Given the description of an element on the screen output the (x, y) to click on. 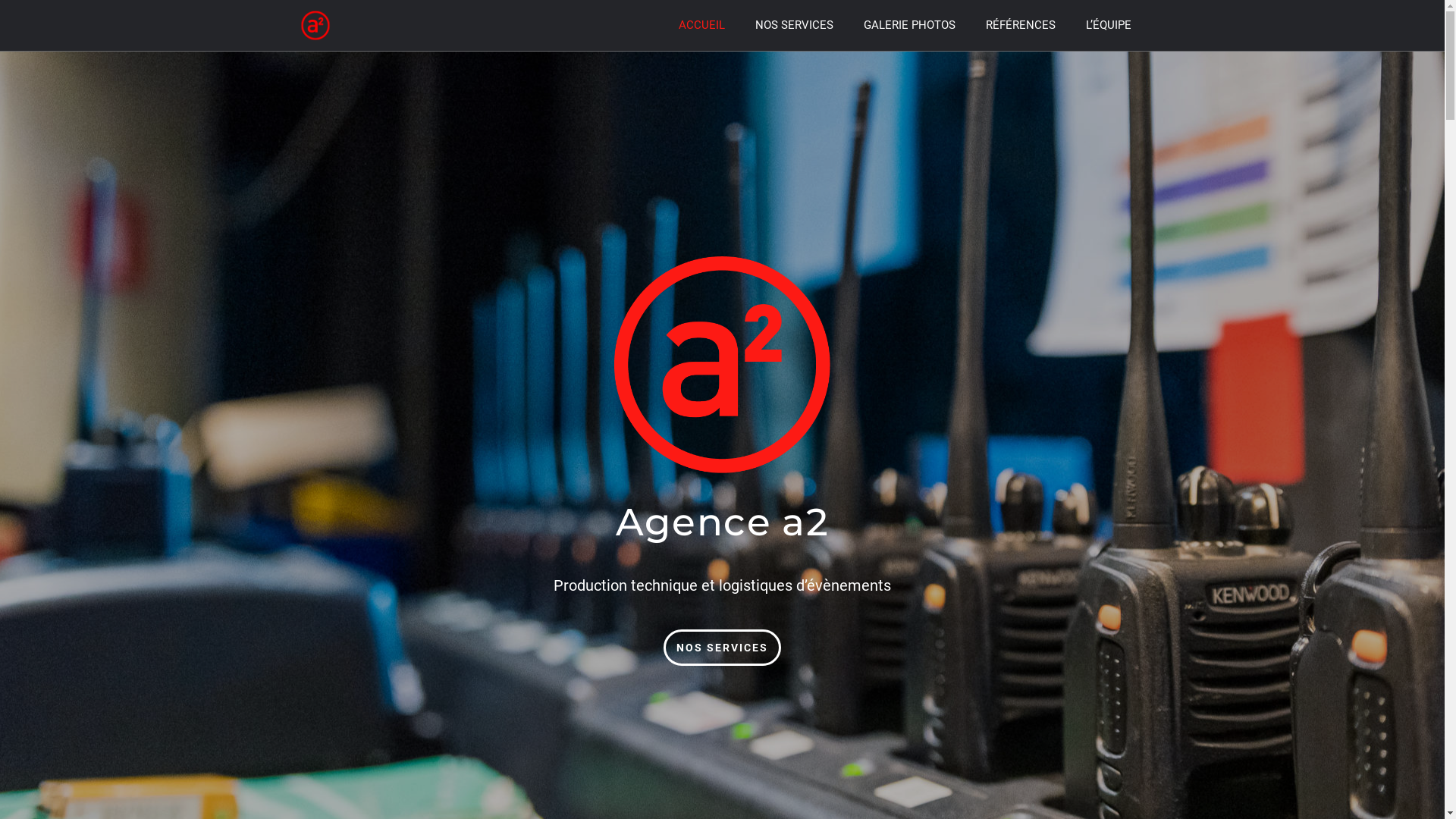
ACCUEIL Element type: text (701, 24)
GALERIE PHOTOS Element type: text (909, 24)
NOS SERVICES Element type: text (722, 647)
NOS SERVICES Element type: text (794, 24)
